Given the description of an element on the screen output the (x, y) to click on. 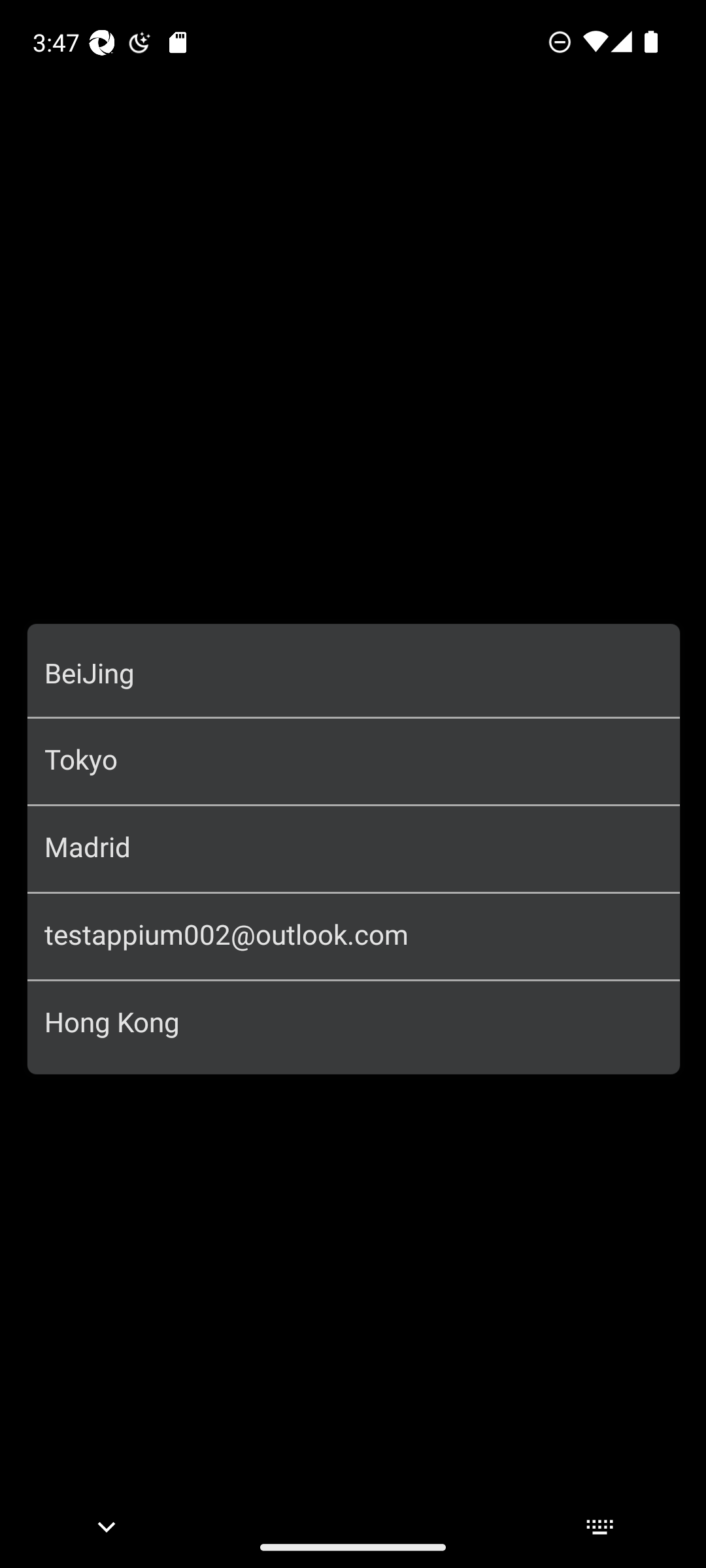
Log Masuk (354, 754)
